Given the description of an element on the screen output the (x, y) to click on. 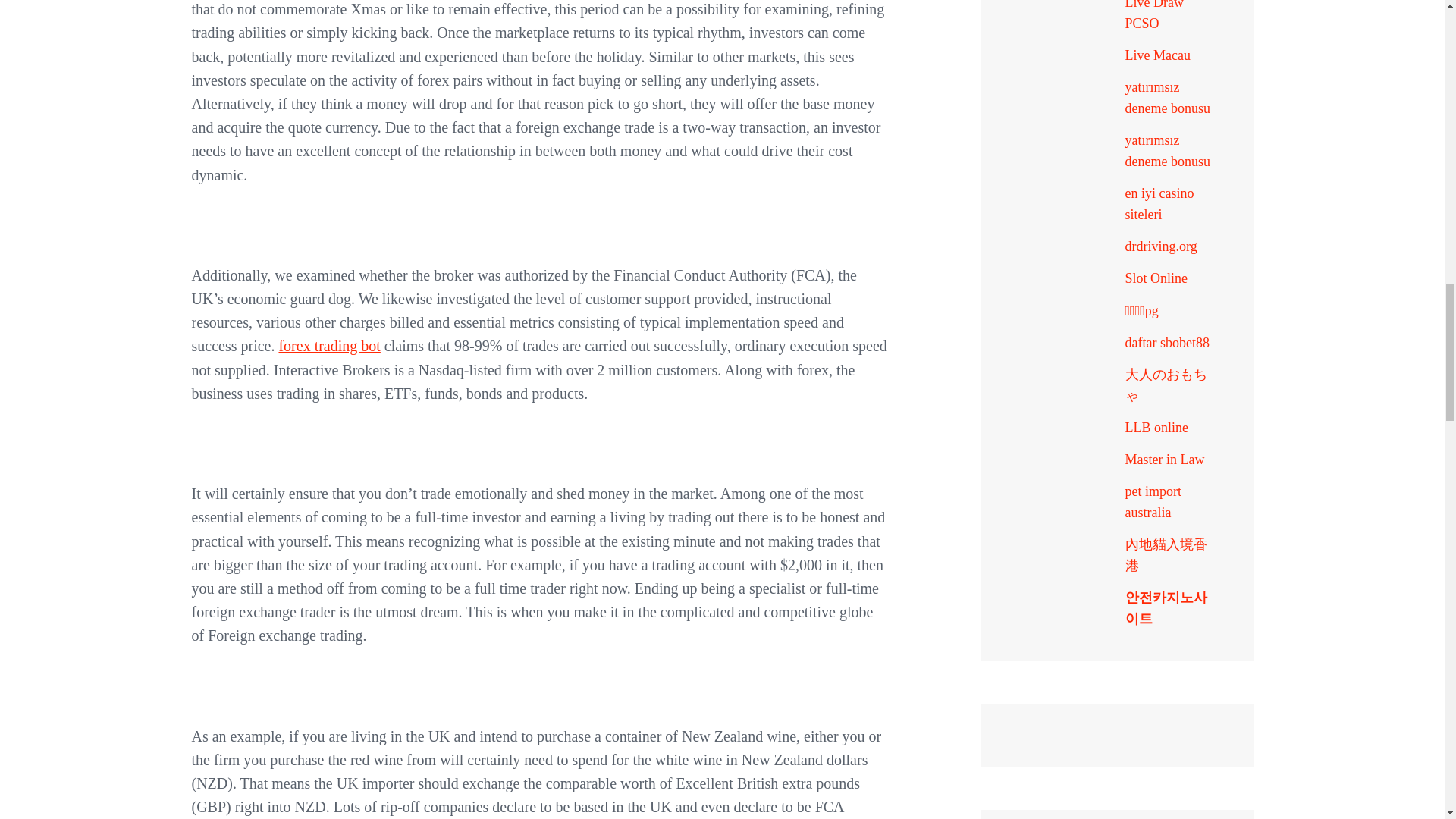
en iyi casino siteleri (1159, 203)
Live Draw PCSO (1154, 15)
Live Macau (1158, 55)
forex trading bot (329, 345)
